Given the description of an element on the screen output the (x, y) to click on. 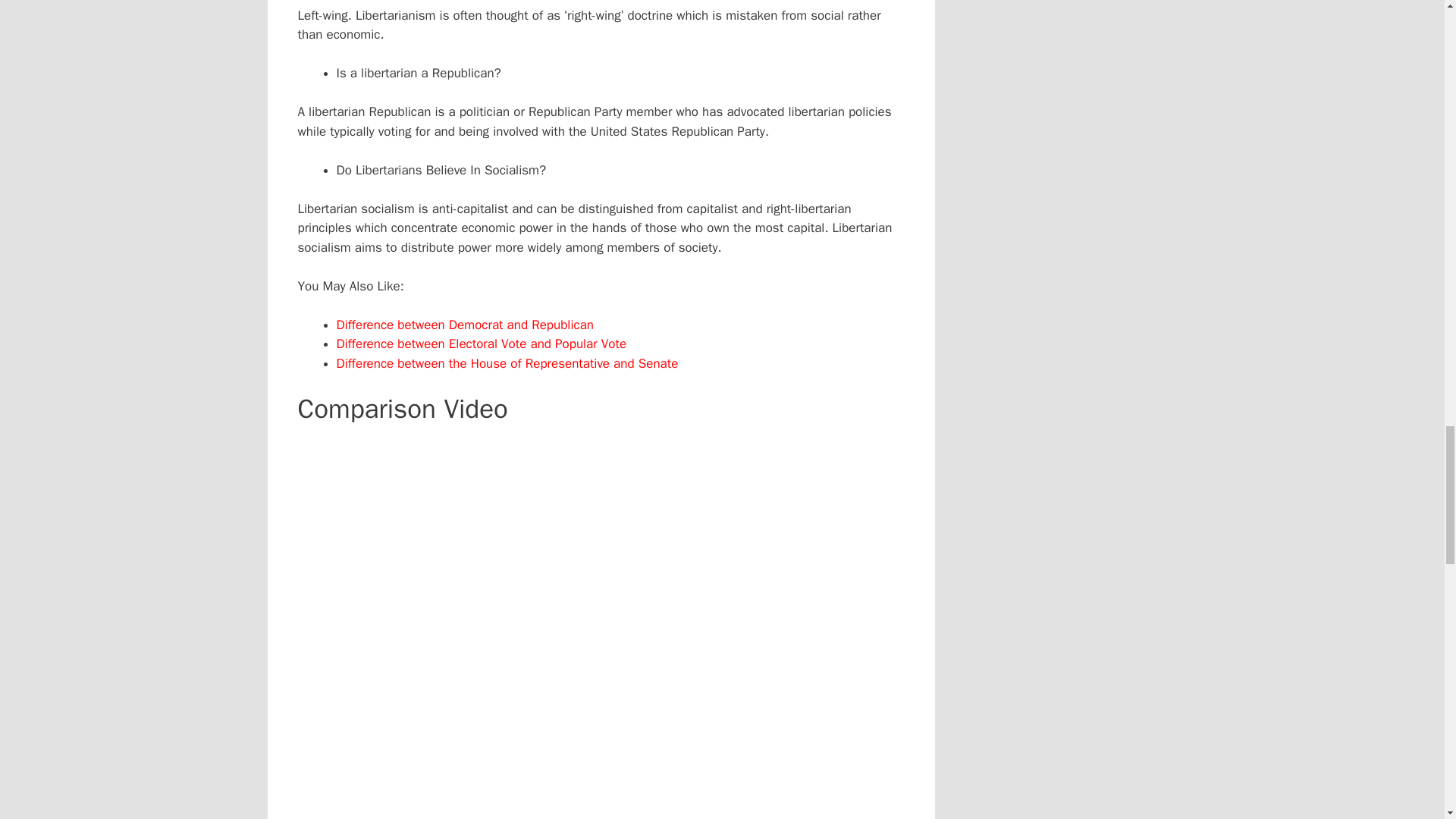
Difference between Electoral Vote and Popular Vote  (483, 343)
Difference between the House of Representative and Senate  (509, 363)
Difference between Democrat and Republican (465, 324)
